Given the description of an element on the screen output the (x, y) to click on. 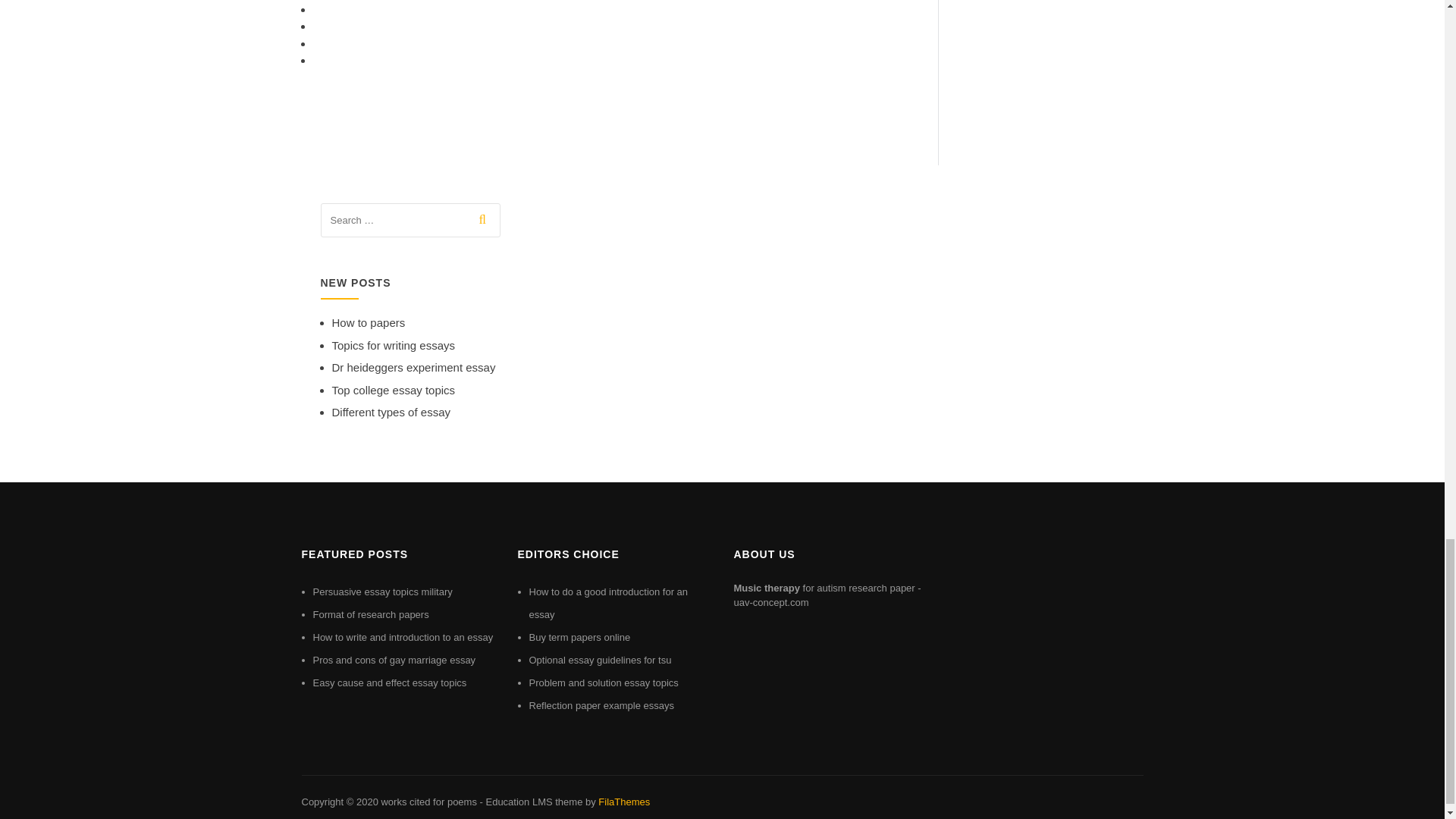
Buy term papers online (579, 636)
Pros and cons of gay marriage essay (394, 659)
Different types of essay (390, 411)
Topics for writing essays (393, 345)
How to papers (368, 322)
Optional essay guidelines for tsu (600, 659)
How to write and introduction to an essay (403, 636)
Easy cause and effect essay topics (389, 682)
Persuasive essay topics military (382, 591)
works cited for poems (428, 801)
Dr heideggers experiment essay (413, 367)
How to do a good introduction for an essay (608, 602)
Problem and solution essay topics (603, 682)
Top college essay topics (393, 390)
Reflection paper example essays (602, 705)
